Given the description of an element on the screen output the (x, y) to click on. 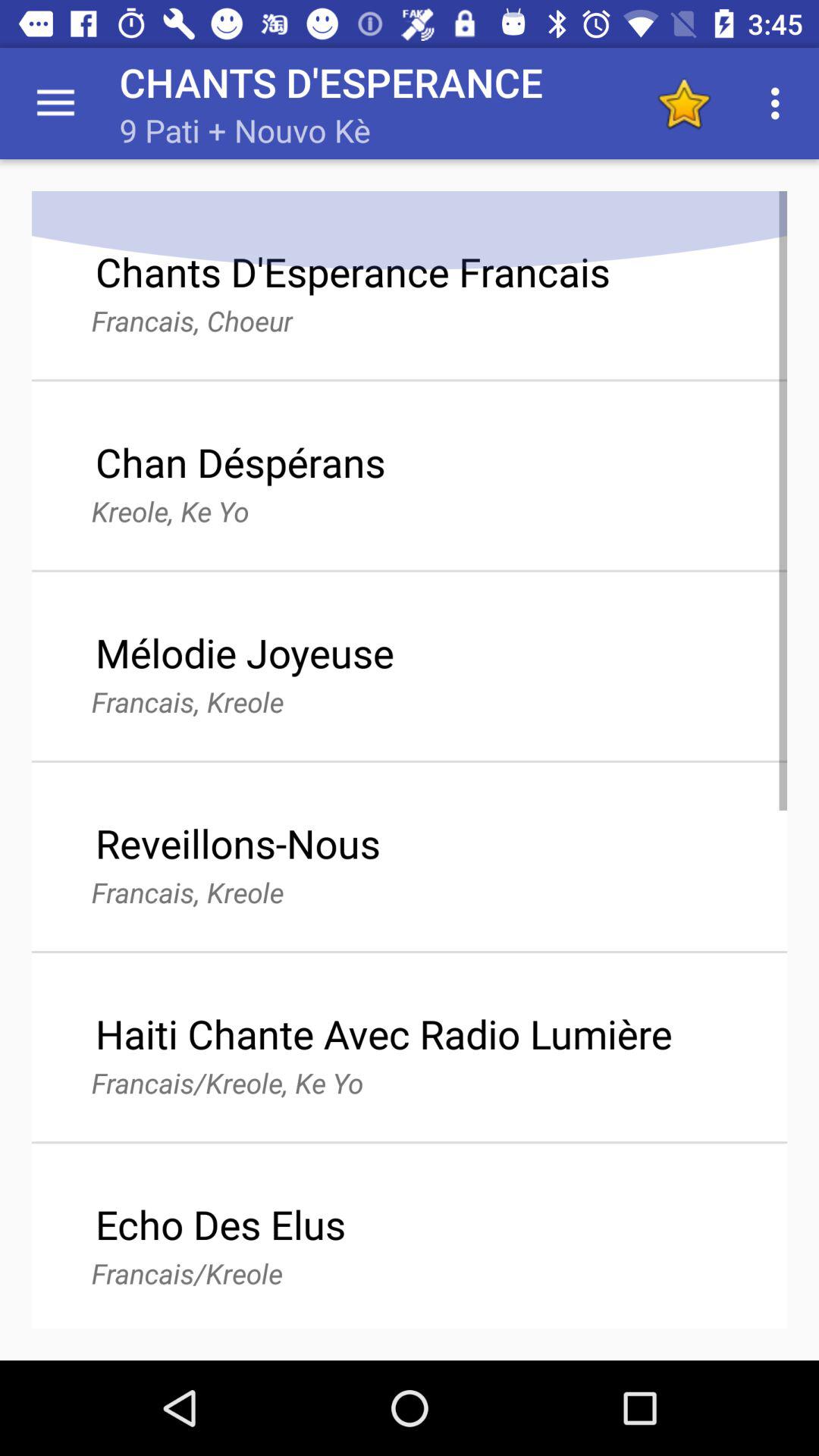
mark as favorite (683, 103)
